Given the description of an element on the screen output the (x, y) to click on. 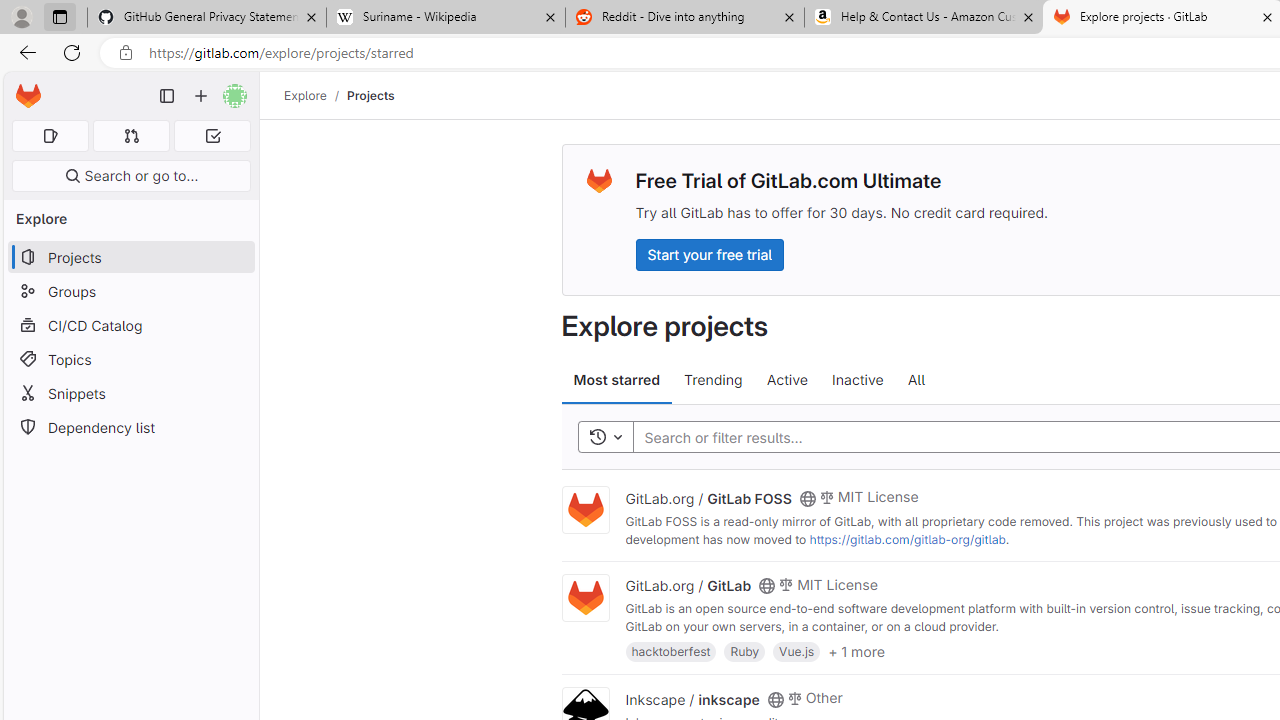
Dependency list (130, 427)
https://gitlab.com/gitlab-org/gitlab (907, 539)
To-Do list 0 (212, 136)
Snippets (130, 393)
Trending (713, 379)
Topics (130, 358)
CI/CD Catalog (130, 325)
Class: s14 gl-mr-2 (794, 696)
